Given the description of an element on the screen output the (x, y) to click on. 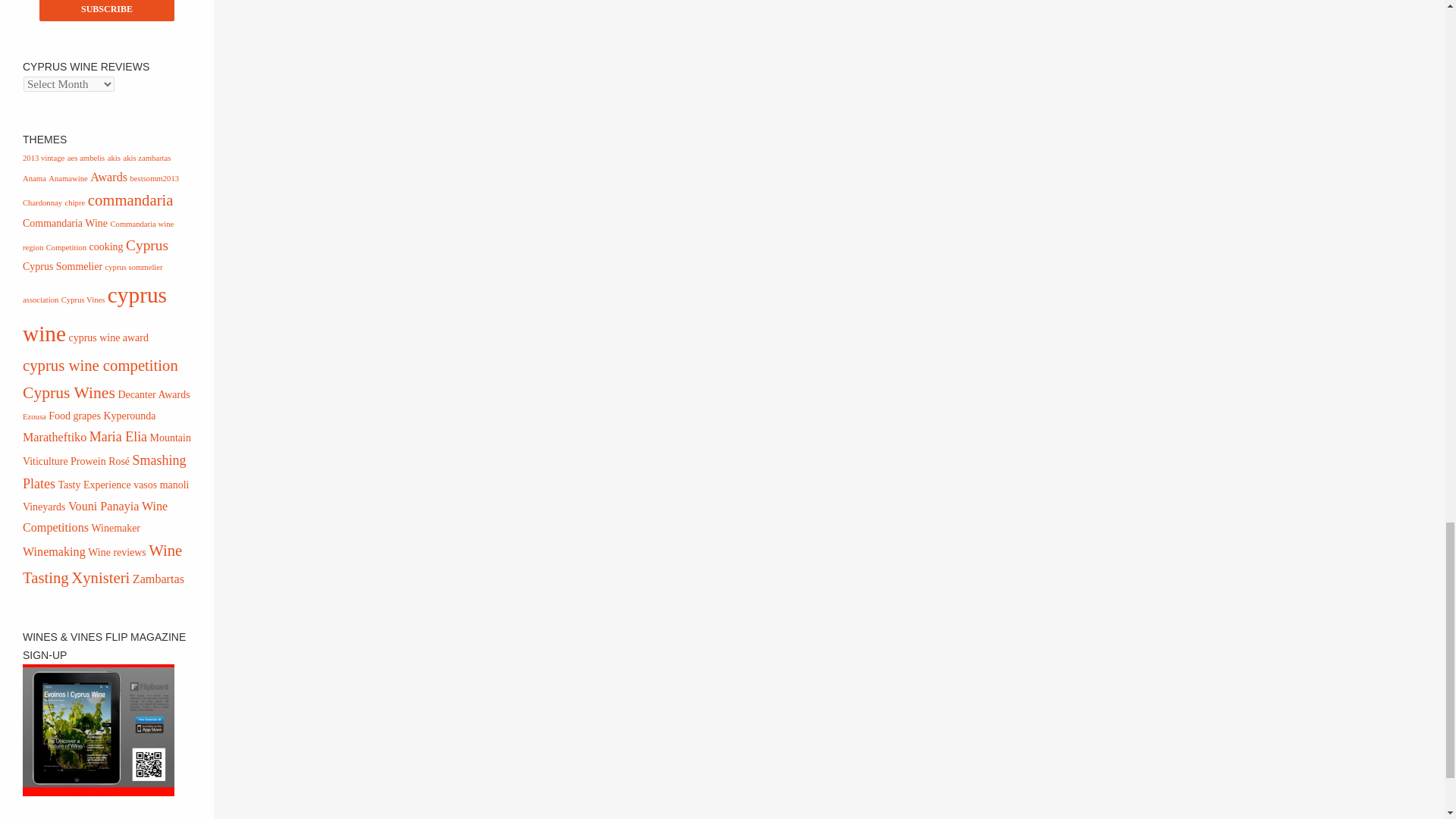
2013 vintage (43, 157)
Subscribe (106, 10)
Subscribe (106, 10)
